Given the description of an element on the screen output the (x, y) to click on. 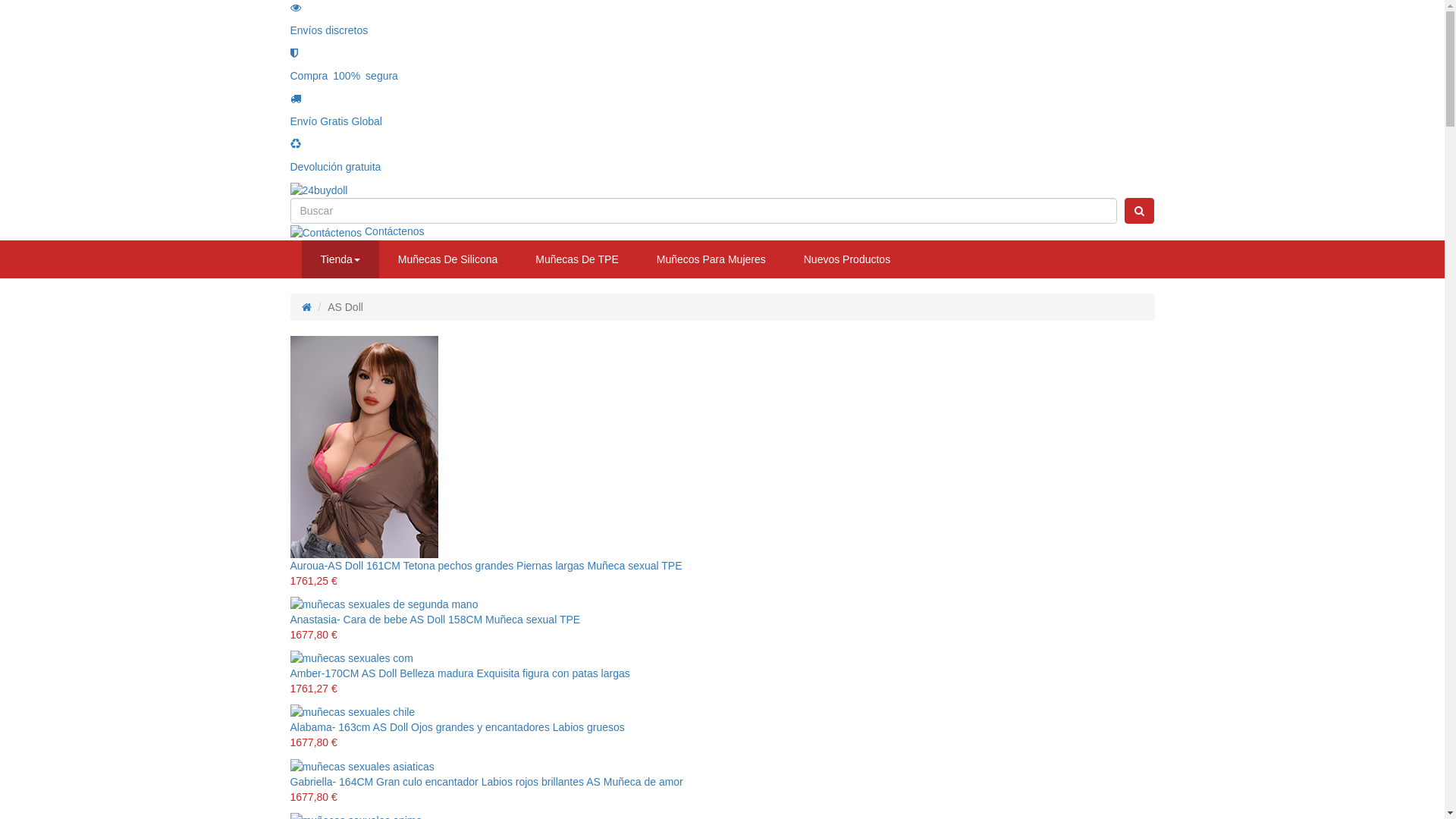
Nuevos Productos Element type: text (846, 259)
Tienda Element type: text (340, 259)
